Given the description of an element on the screen output the (x, y) to click on. 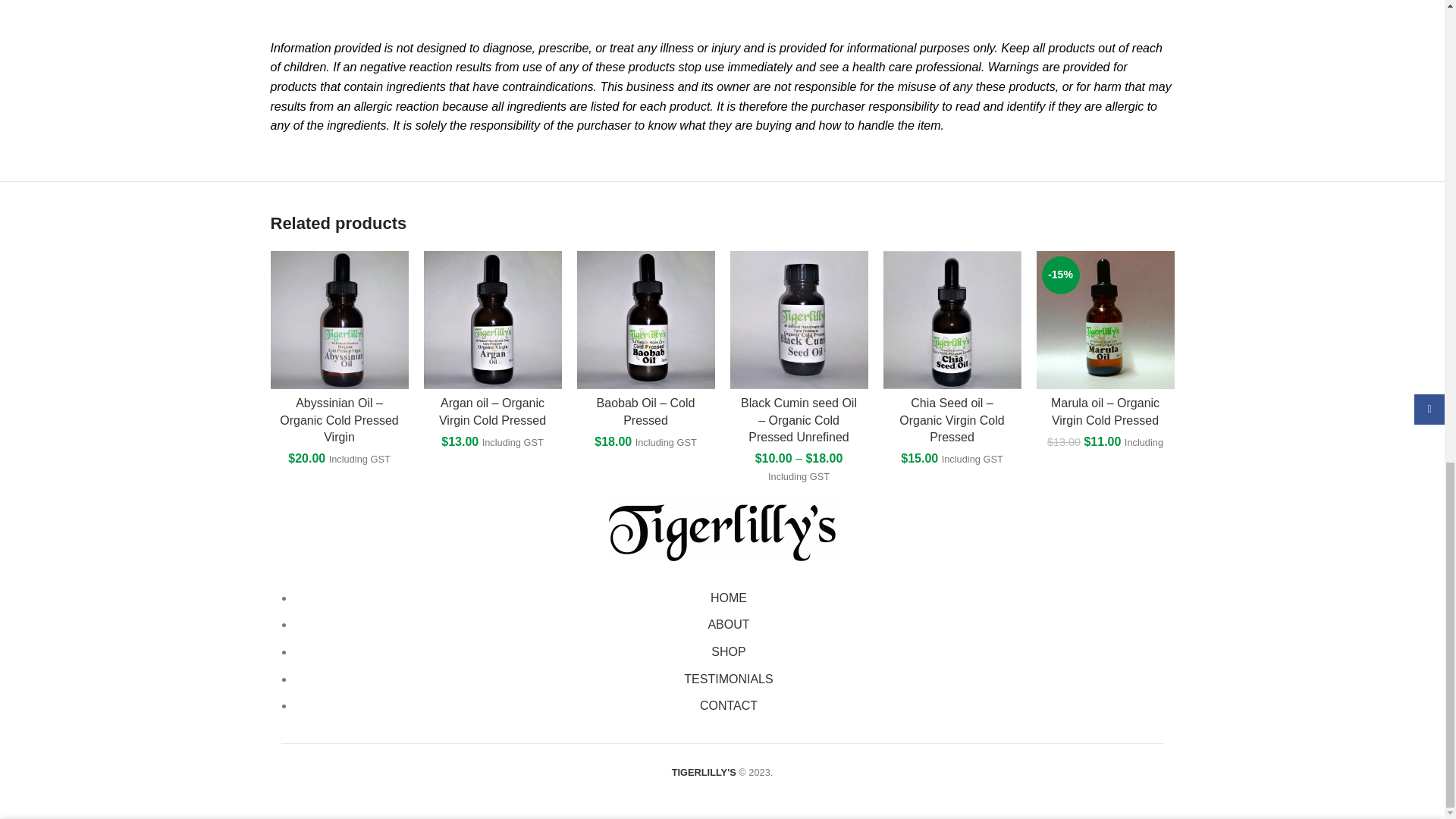
Asset 9 (721, 528)
